Given the description of an element on the screen output the (x, y) to click on. 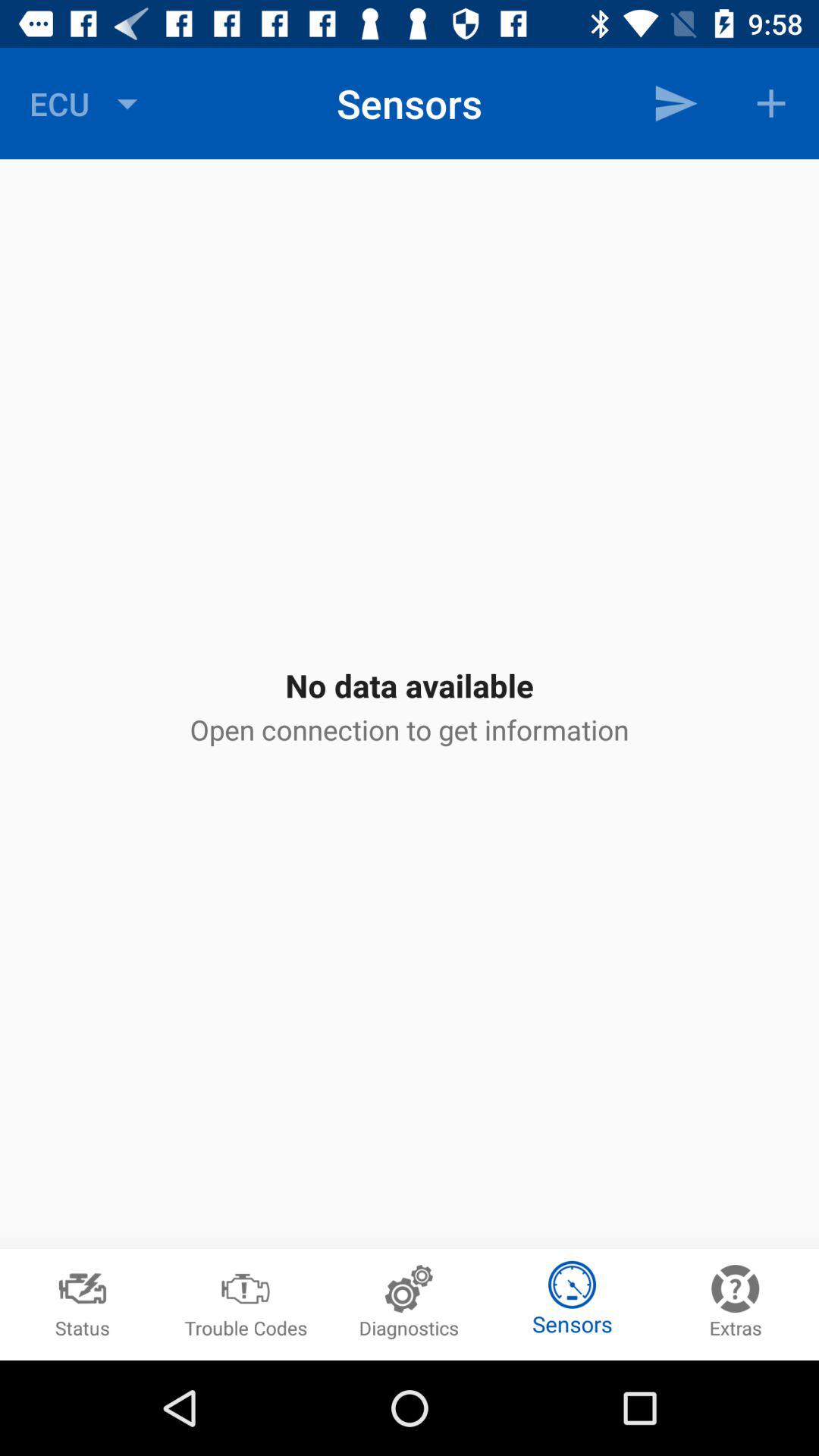
launch the icon next to the sensors icon (87, 103)
